Given the description of an element on the screen output the (x, y) to click on. 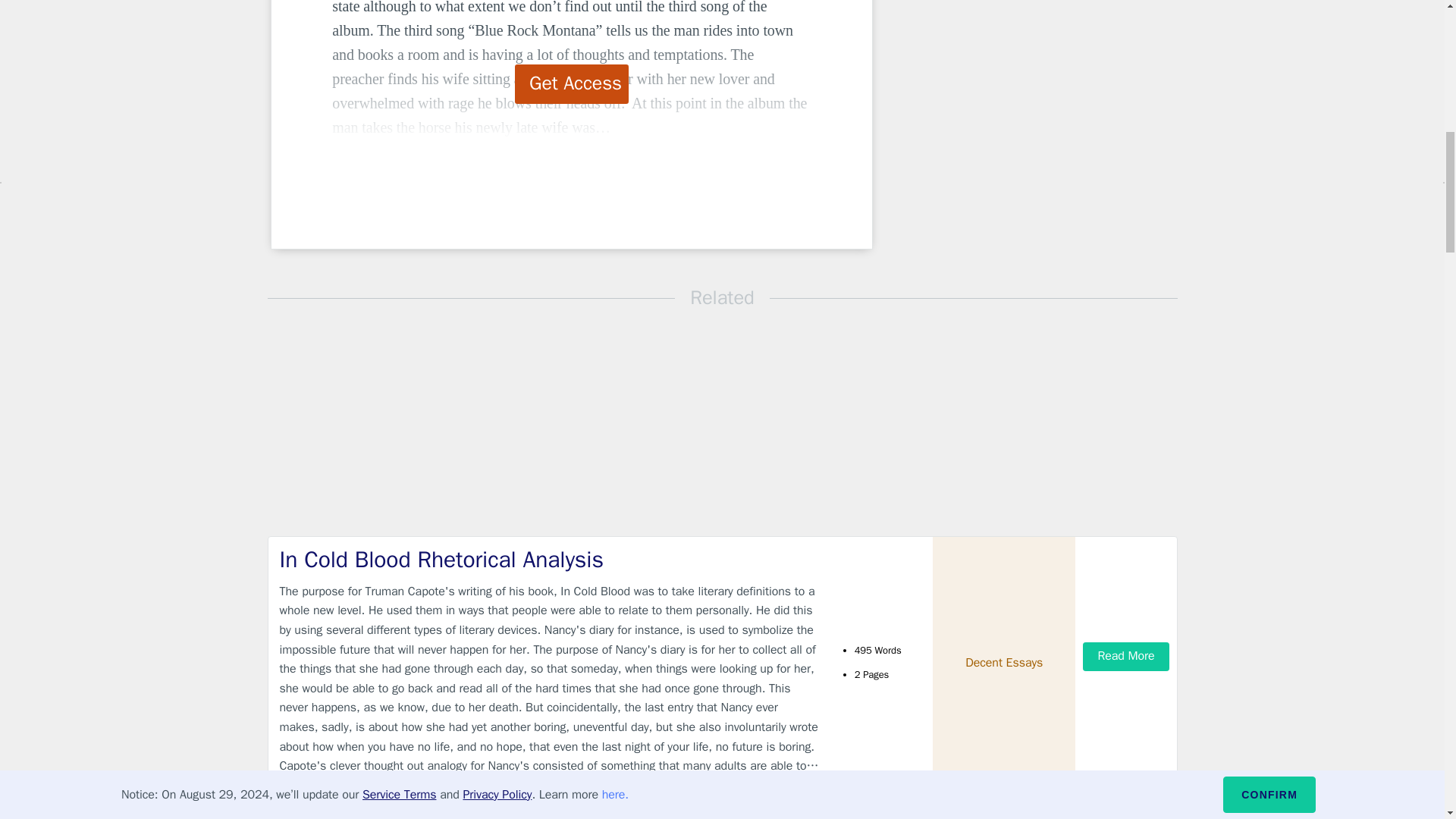
In Cold Blood Rhetorical Analysis (548, 559)
Read More (1126, 656)
Get Access (571, 84)
